Given the description of an element on the screen output the (x, y) to click on. 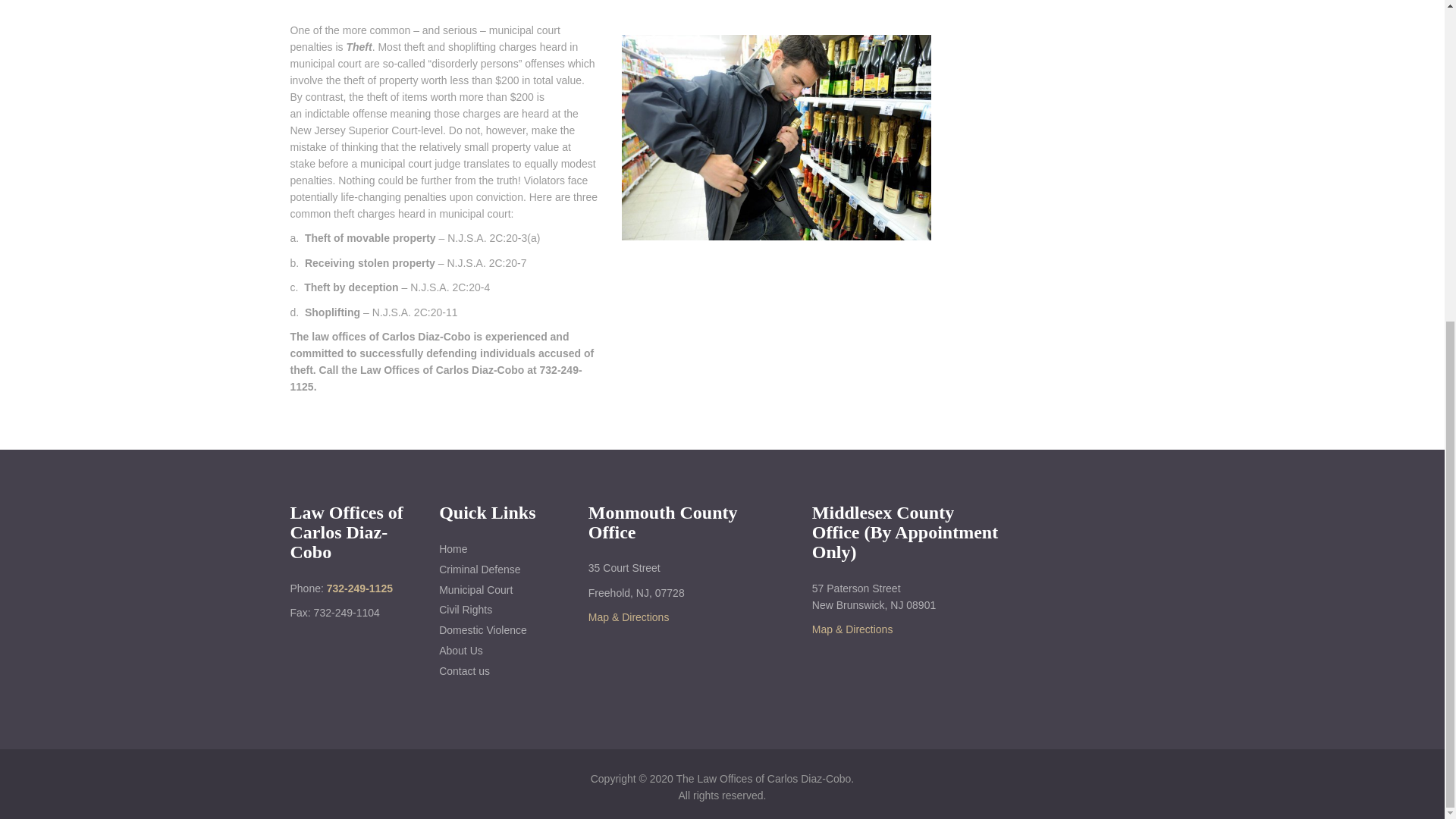
Municipal Court (498, 590)
Contact us (498, 671)
Criminal Defense (498, 570)
About Us (498, 651)
Domestic Violence (498, 630)
732-249-1125 (359, 588)
Civil Rights (498, 610)
Home (498, 549)
